Given the description of an element on the screen output the (x, y) to click on. 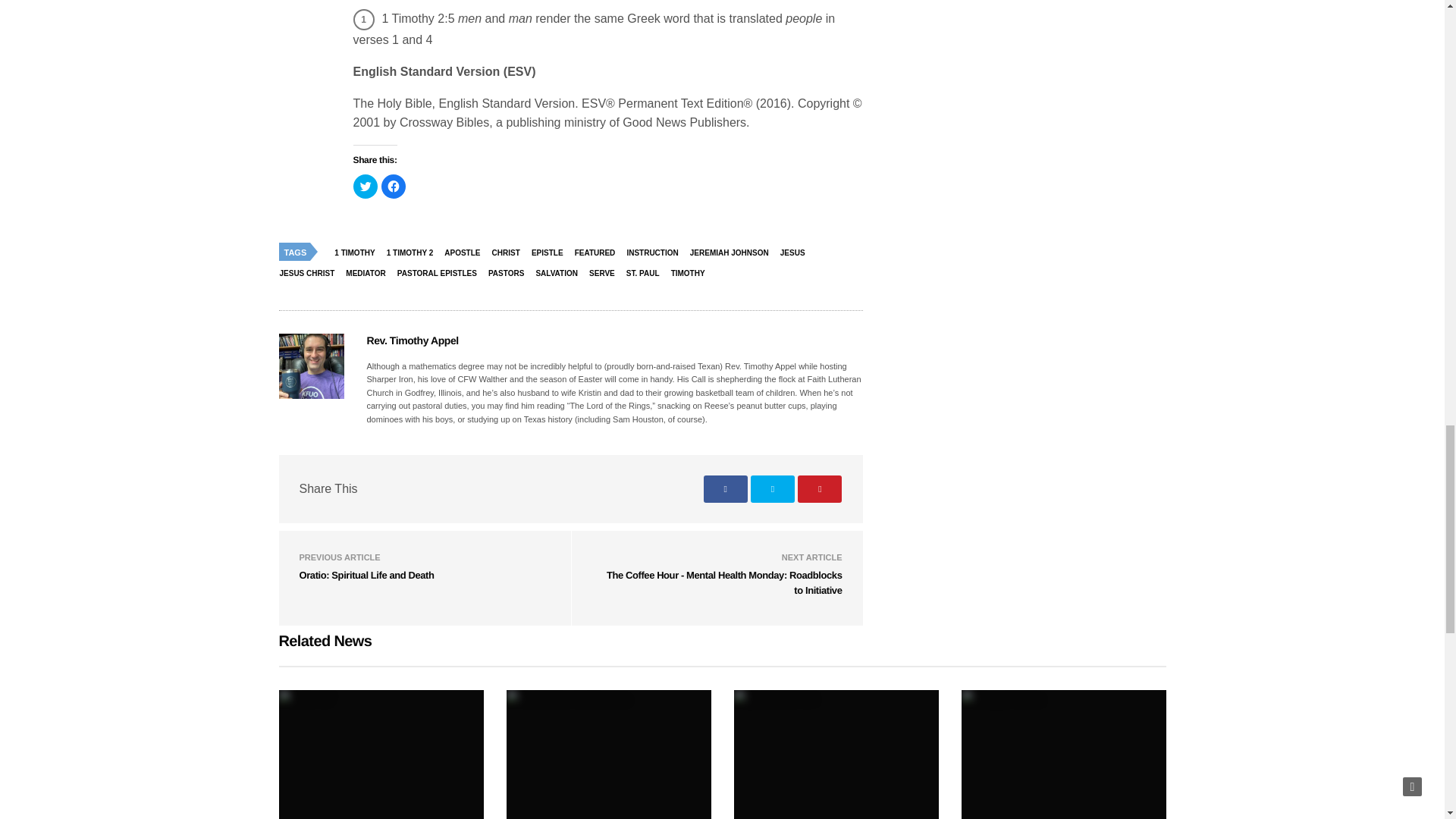
Click to share on Facebook (392, 186)
Click to share on Twitter (365, 186)
